Given the description of an element on the screen output the (x, y) to click on. 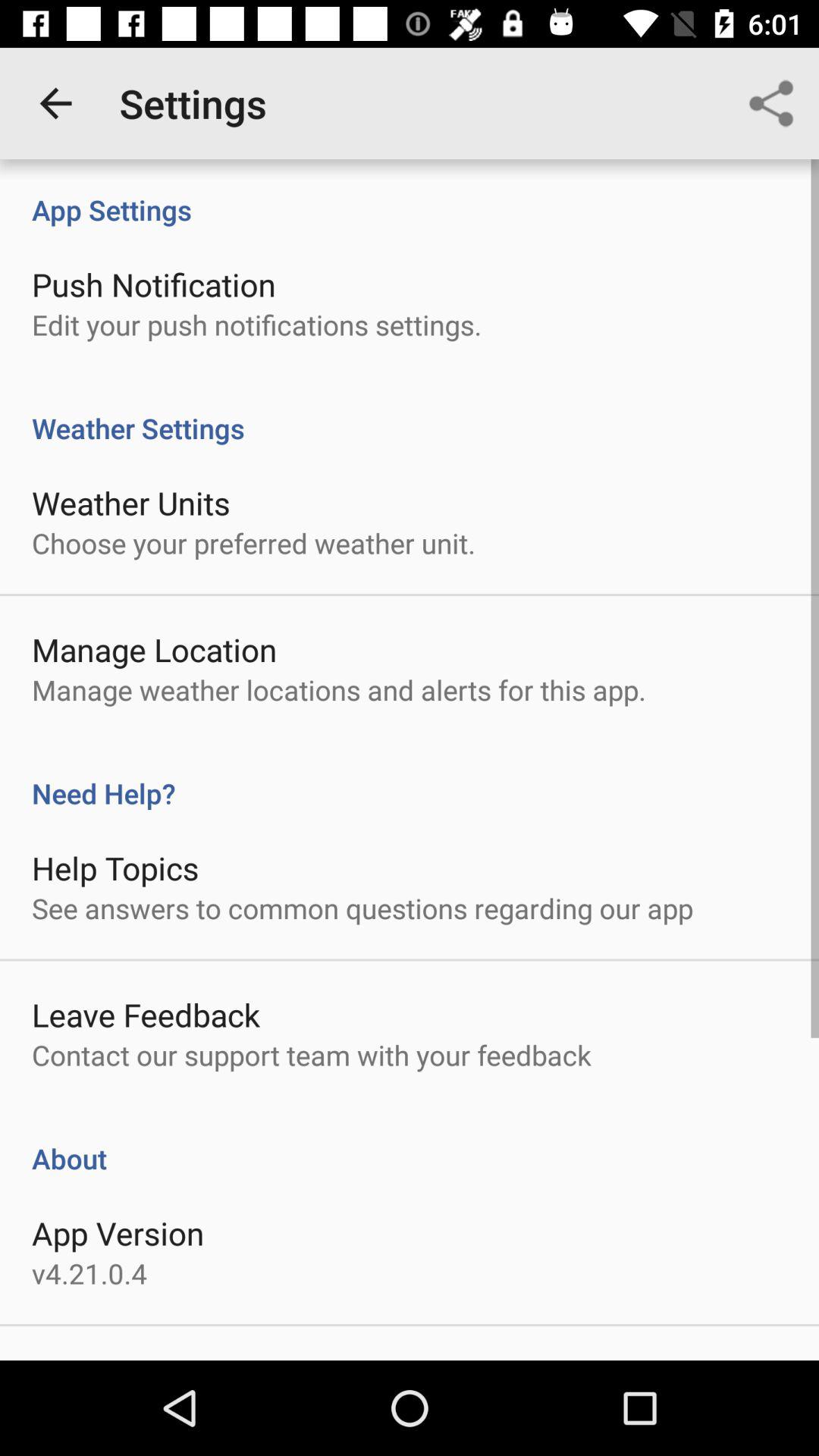
tap the item below the see answers to (145, 1014)
